Given the description of an element on the screen output the (x, y) to click on. 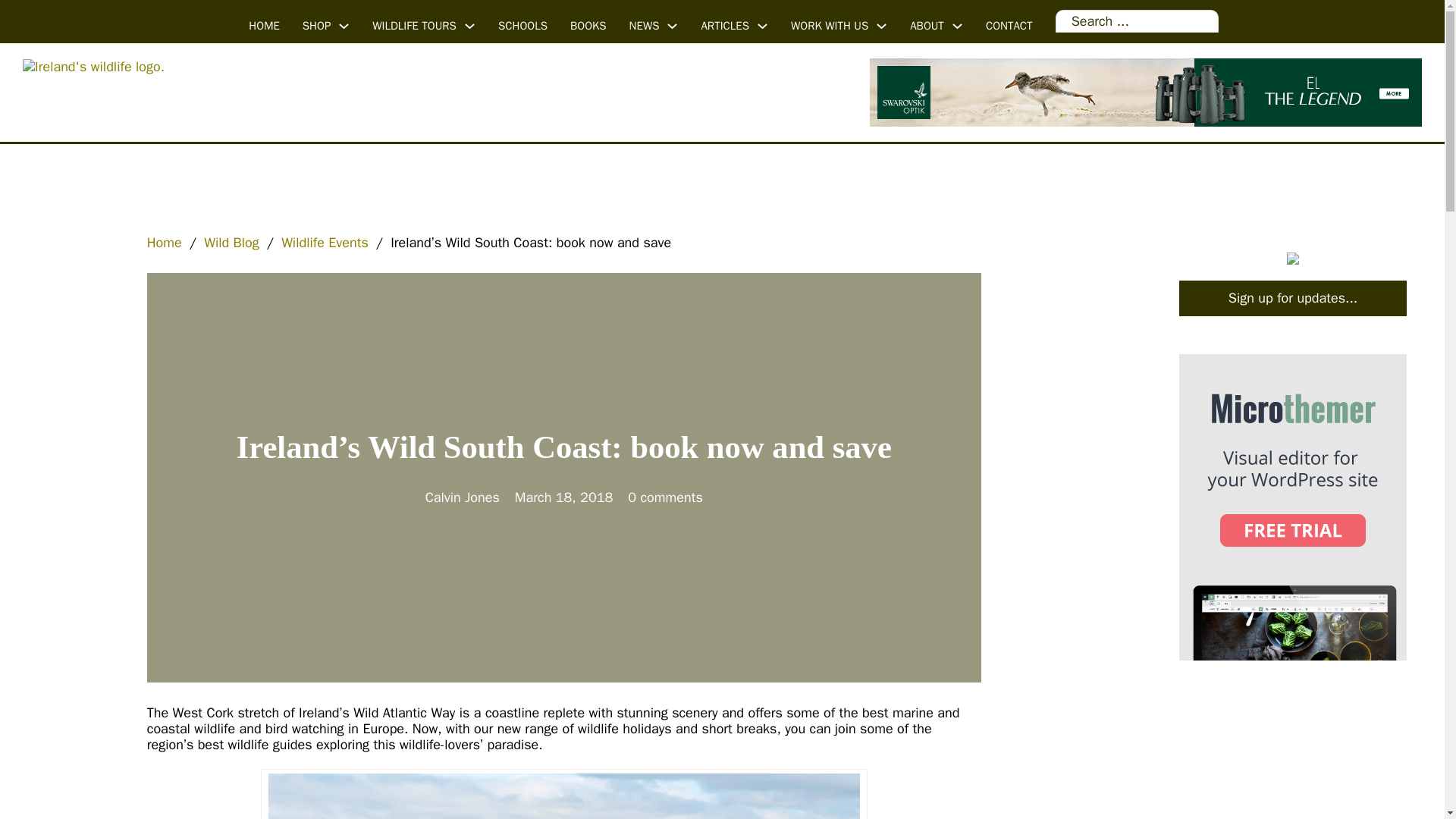
ARTICLES (724, 25)
SCHOOLS (522, 25)
SHOP (316, 25)
HOME (263, 25)
WILDLIFE TOURS (414, 25)
NEWS (643, 25)
BOOKS (588, 25)
Heritage in School Wildlife Visits (522, 25)
